Given the description of an element on the screen output the (x, y) to click on. 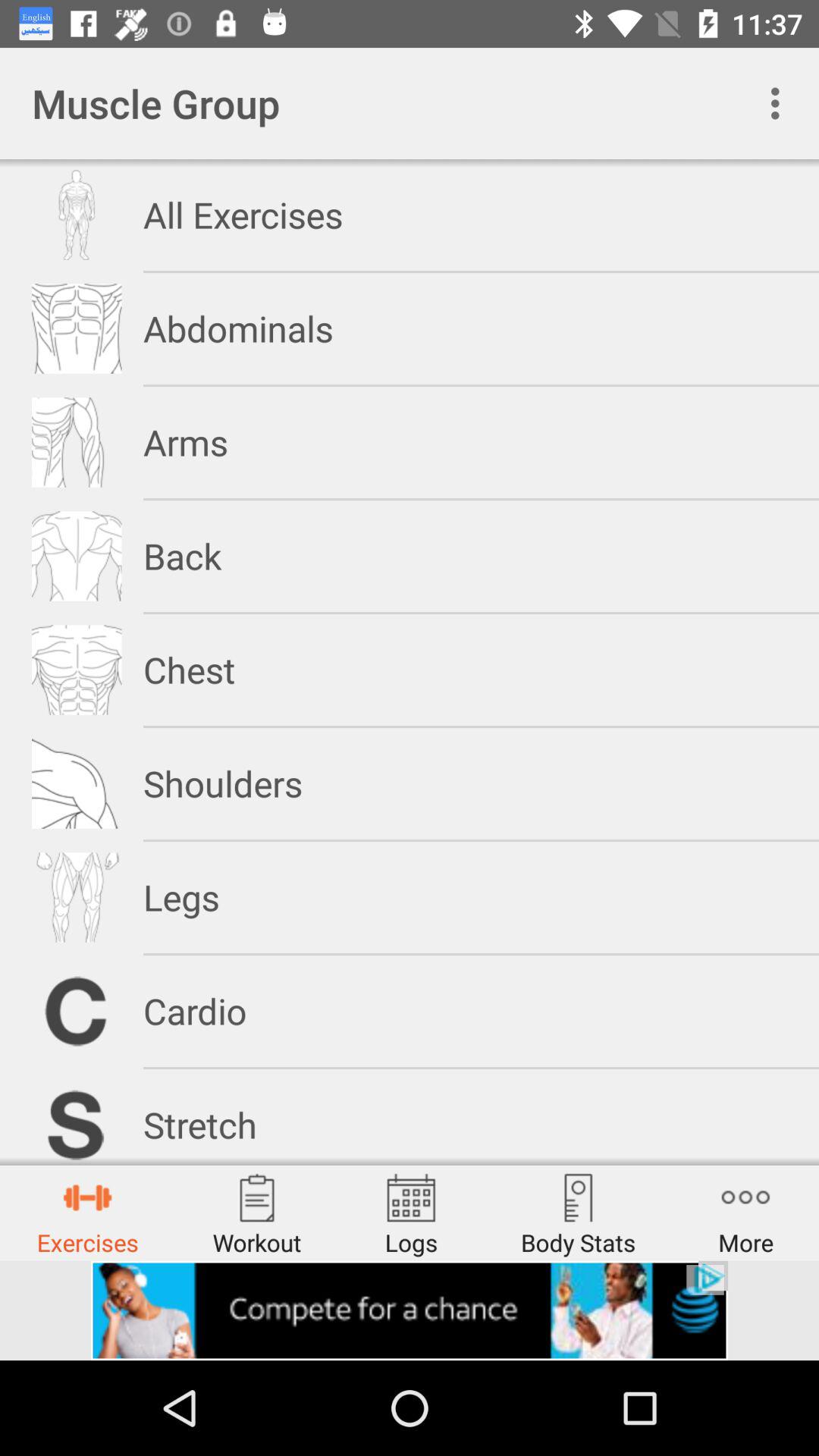
advertisement (409, 1310)
